Given the description of an element on the screen output the (x, y) to click on. 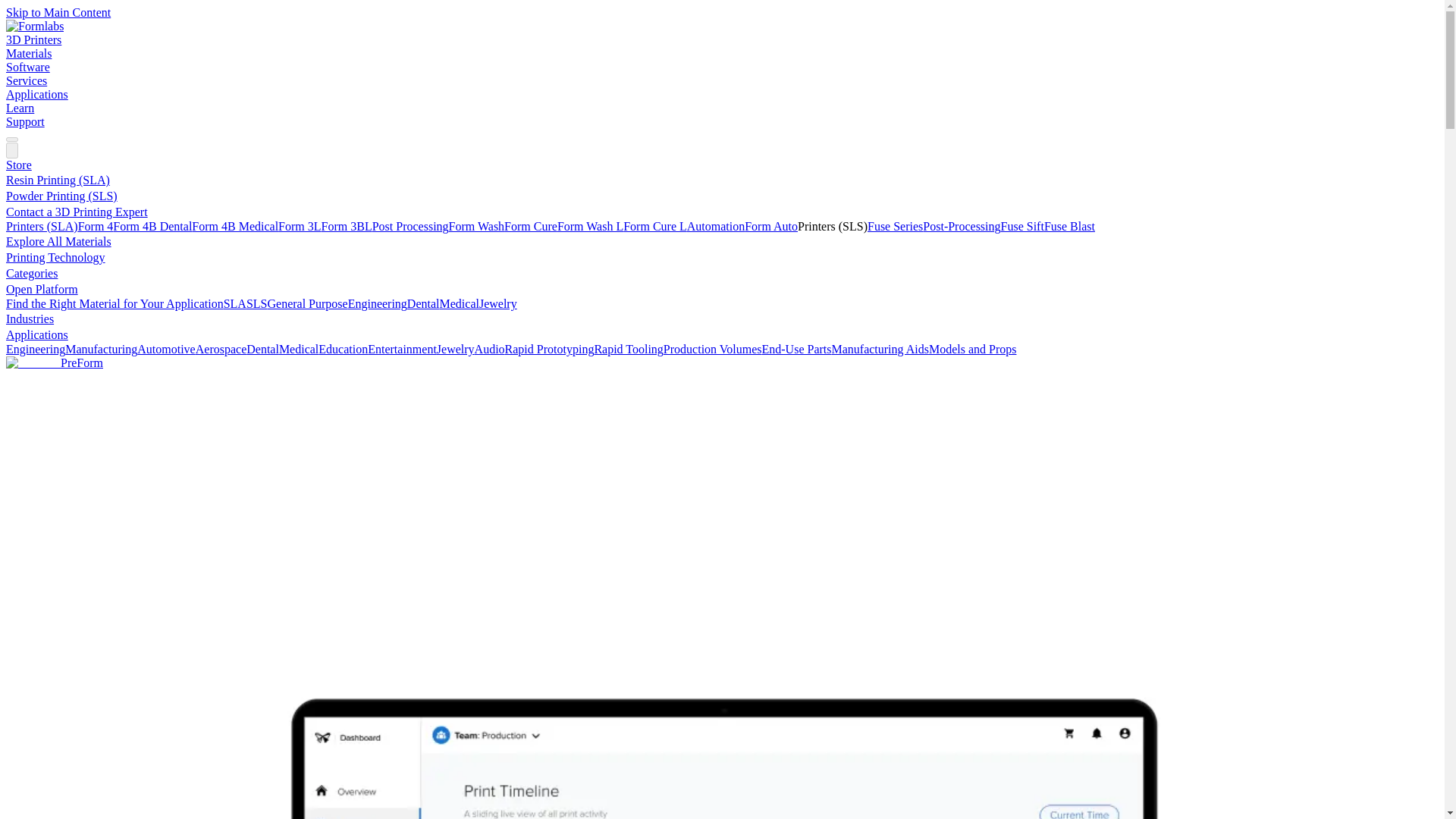
Automation (715, 226)
Store (18, 164)
Applications (36, 93)
Services (25, 80)
Materials (27, 52)
Fuse Blast (1068, 226)
Software (27, 66)
SLS (256, 303)
Search (11, 139)
Find the Right Material for Your Application (114, 303)
Store (18, 164)
Support (25, 121)
Learn (19, 107)
Post Processing (410, 226)
Form 4B Dental (152, 226)
